Given the description of an element on the screen output the (x, y) to click on. 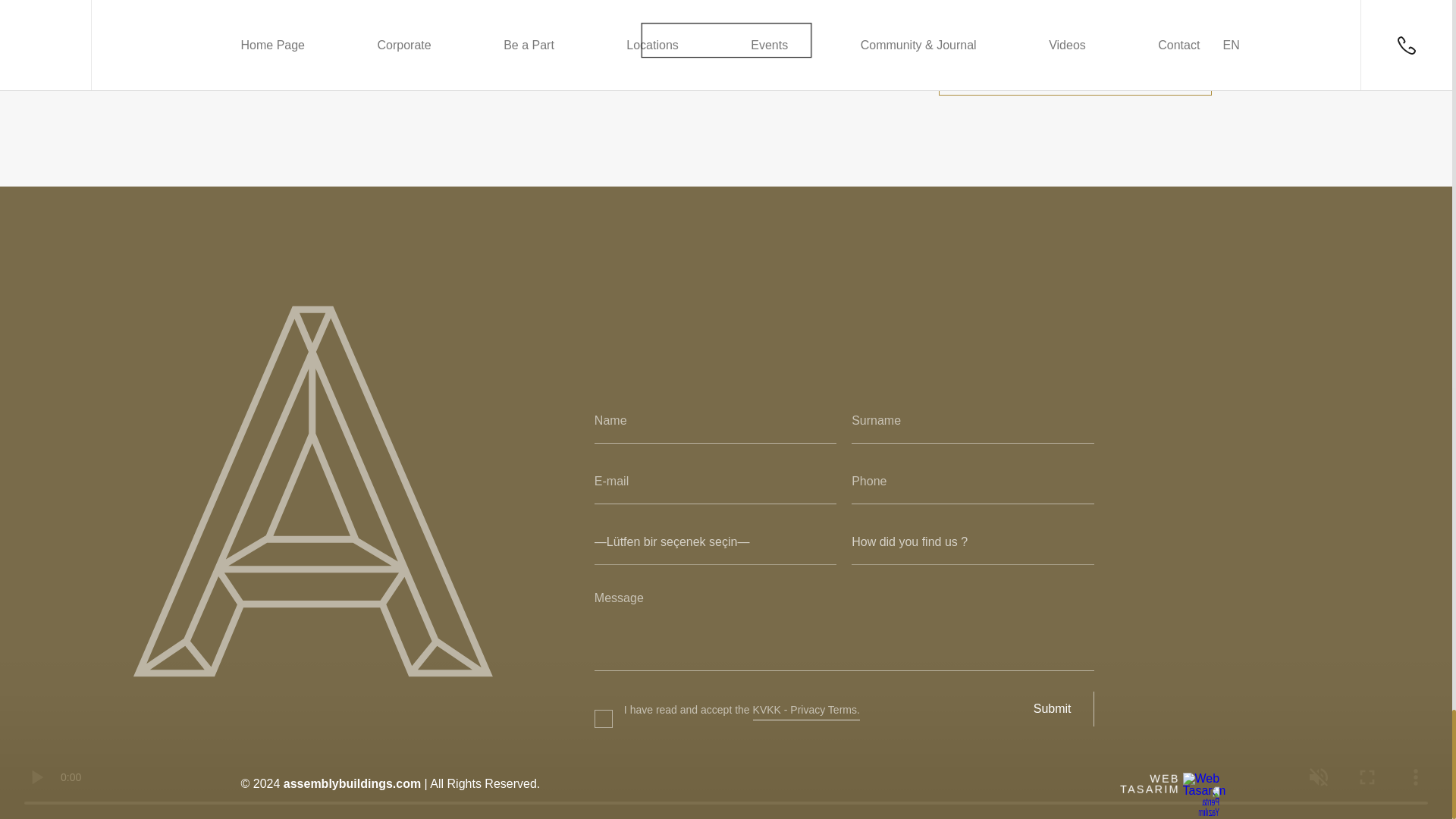
Submit (1052, 708)
KVKK - Privacy Terms. (806, 710)
Member Spotlight: SGU Hukuk (743, 47)
1 (600, 699)
Member Spotlight: SGU Hukuk (743, 47)
